Given the description of an element on the screen output the (x, y) to click on. 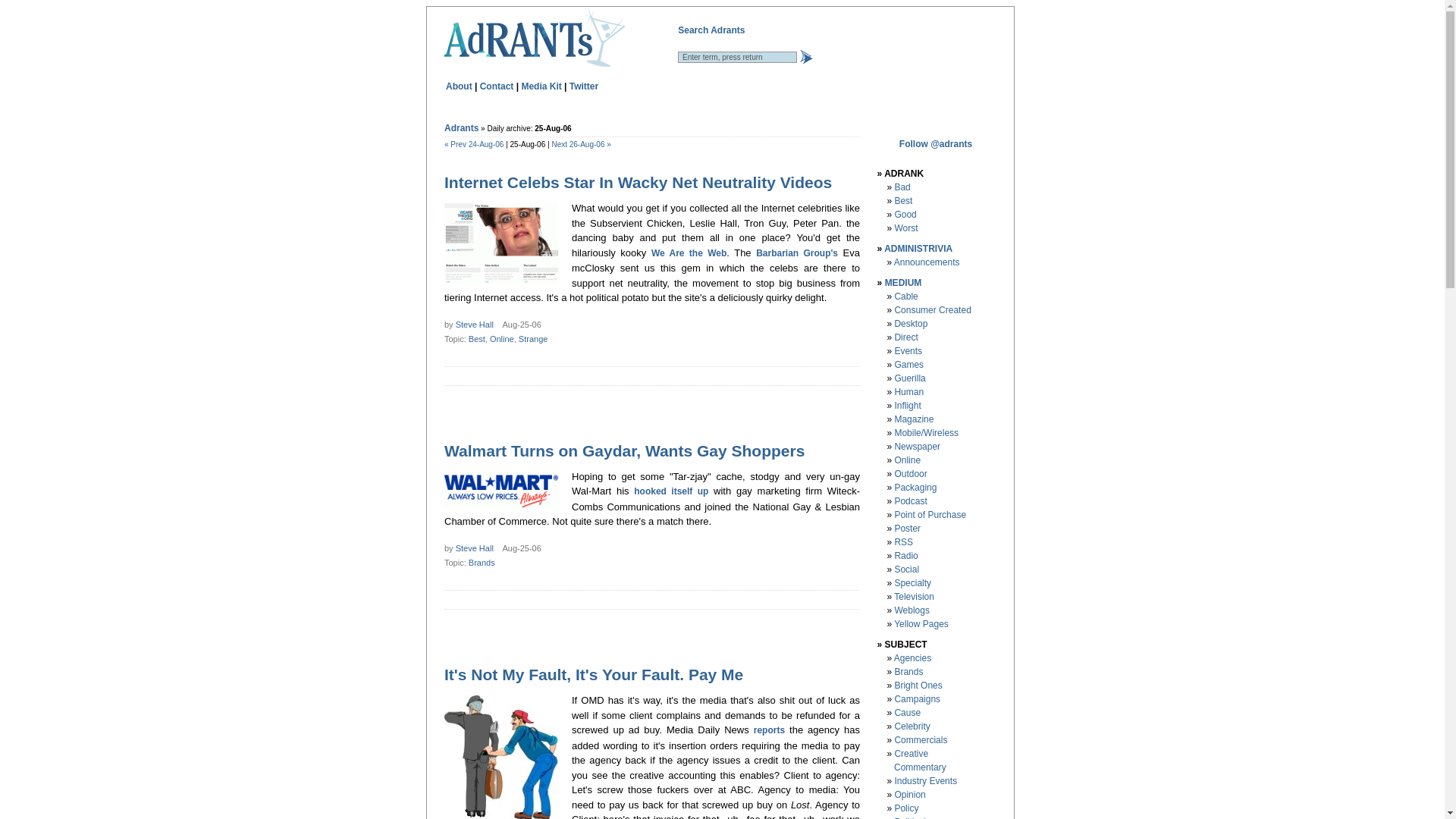
Steve Hall (474, 547)
Ask a Question, Make a Suggestion, Send a Press Release (496, 85)
Follow Adrants on Twitter (583, 85)
Twitter (583, 85)
Brands (481, 562)
It's Not My Fault, It's Your Fault. Pay Me (593, 674)
Adrants (461, 127)
Search (805, 56)
hooked itself up (670, 491)
Find Out What This Place is All About (458, 85)
Internet Celebs Star In Wacky Net Neutrality Videos (637, 181)
Walmart Turns on Gaydar, Wants Gay Shoppers (624, 450)
Online (501, 338)
Barbarian Group's (796, 253)
